Given the description of an element on the screen output the (x, y) to click on. 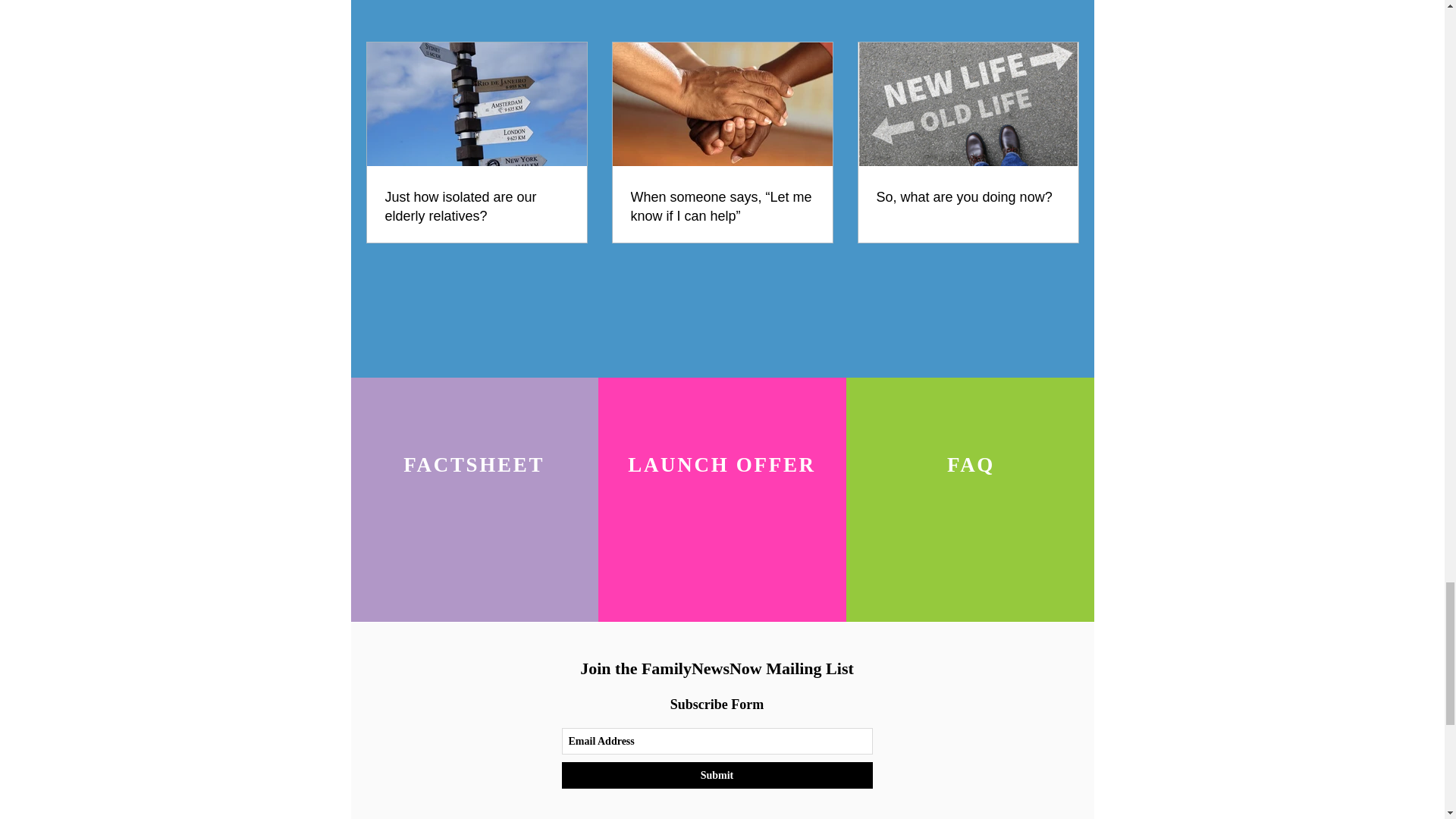
Submit (716, 775)
So, what are you doing now? (967, 197)
Just how isolated are our elderly relatives? (477, 207)
Join the FamilyNewsNow Mailing List (716, 668)
